Given the description of an element on the screen output the (x, y) to click on. 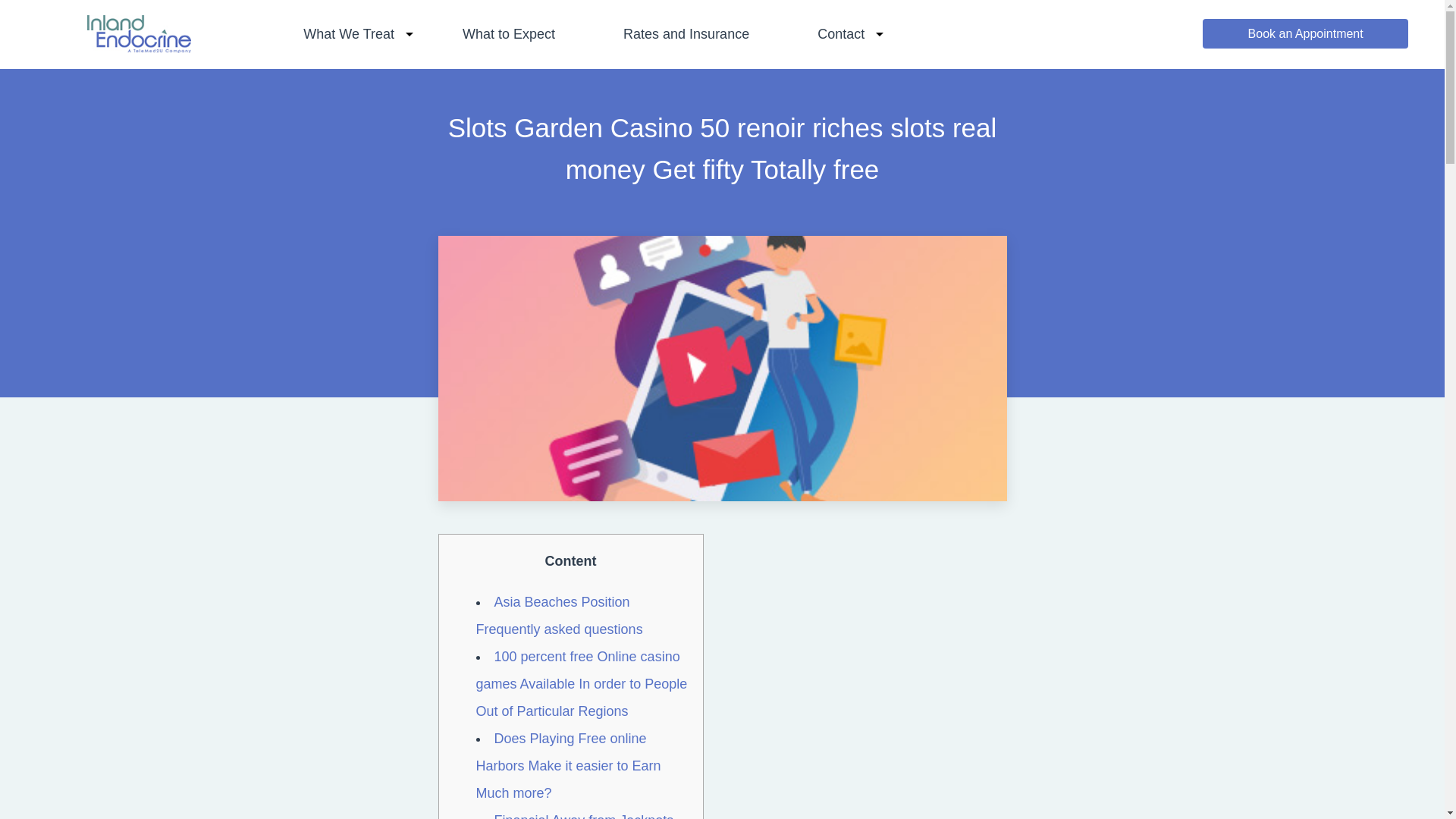
Rates and Insurance (686, 33)
Inland Endocrine (138, 48)
What We Treat (348, 33)
Book an Appointment (1304, 33)
Asia Beaches Position Frequently asked questions (559, 615)
What to Expect (508, 33)
Contact (840, 33)
Financial Away from Jackpots Online Position (575, 816)
